Given the description of an element on the screen output the (x, y) to click on. 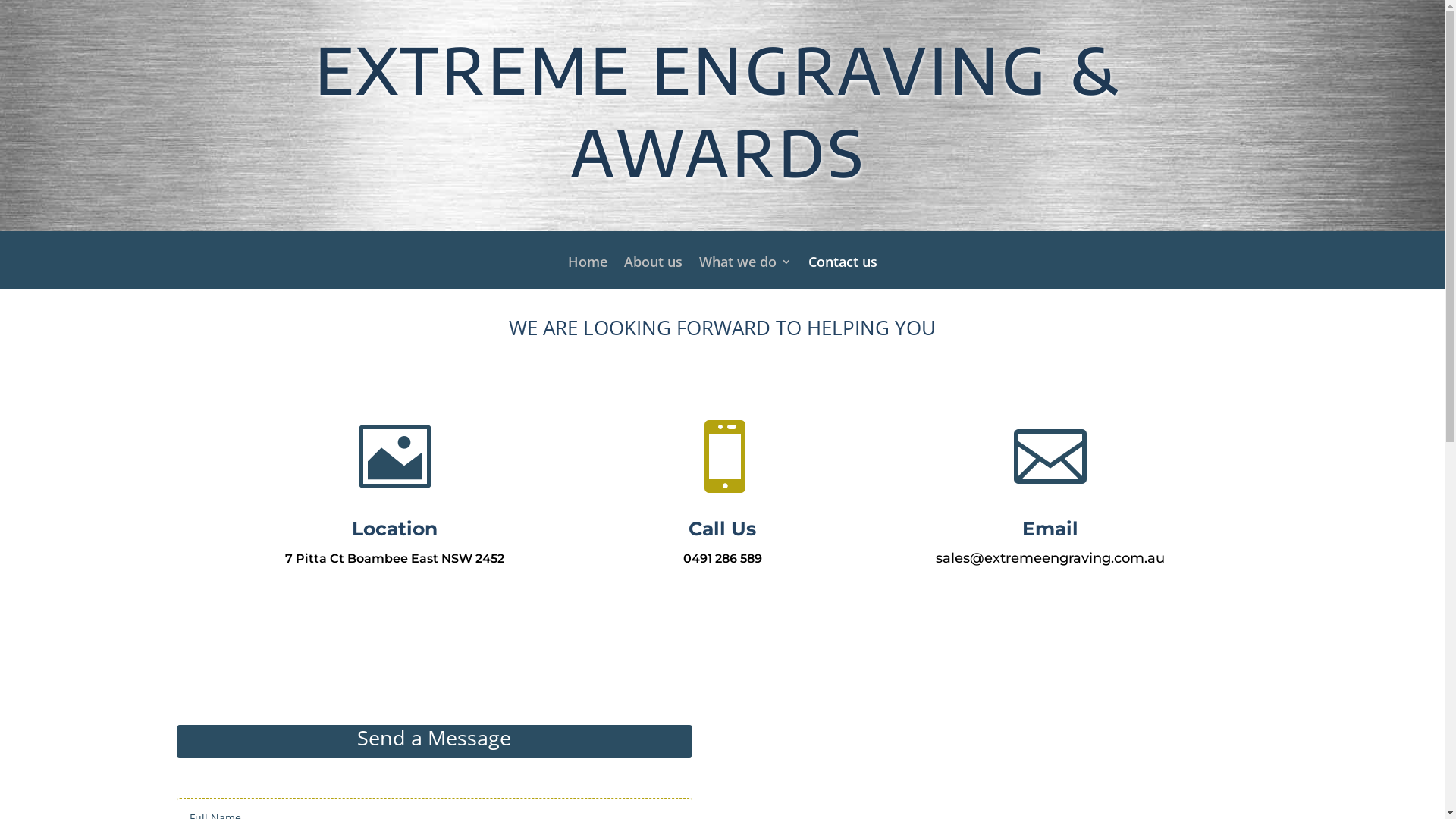
What we do Element type: text (745, 272)
About us Element type: text (652, 272)
sales@extremeengraving.com.au Element type: text (1049, 557)
Contact us Element type: text (842, 272)
Call Us Element type: text (722, 528)
Home Element type: text (586, 272)
0491 286 589 Element type: text (721, 558)
Email Element type: text (1050, 528)
